Given the description of an element on the screen output the (x, y) to click on. 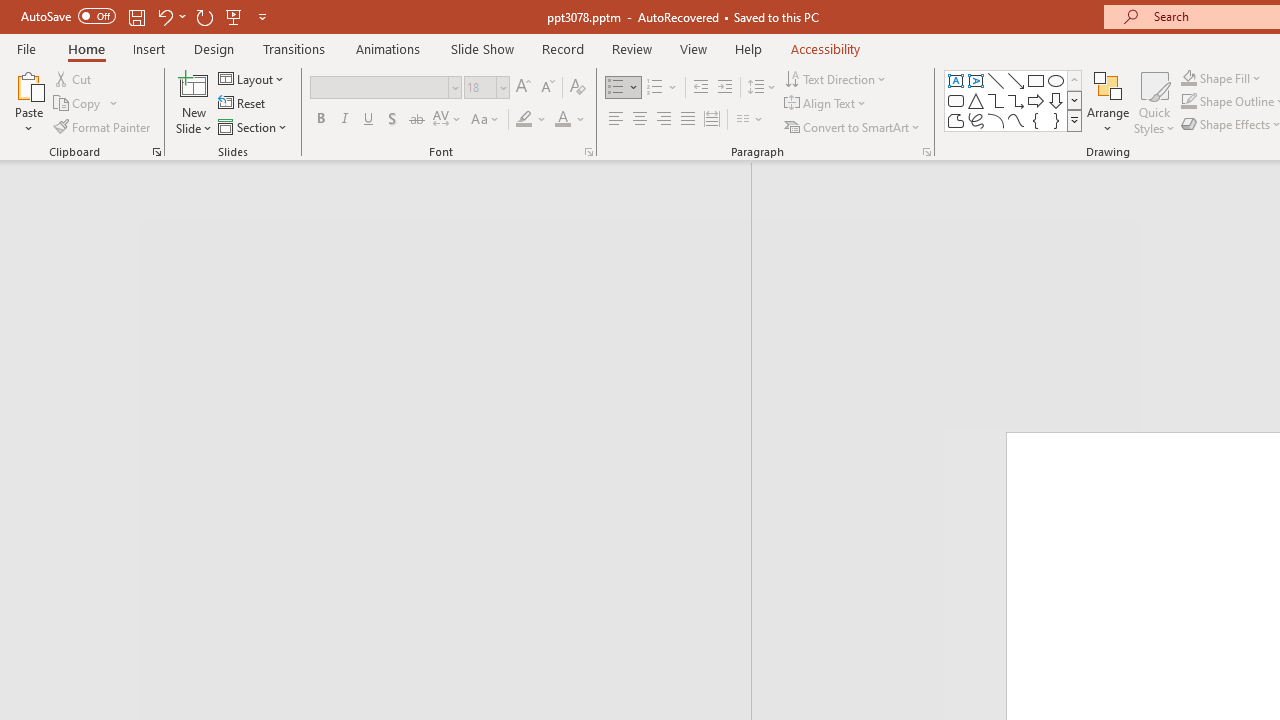
Left Brace (1035, 120)
Distributed (712, 119)
Connector: Elbow (995, 100)
Freeform: Shape (955, 120)
Outline (384, 215)
